Given the description of an element on the screen output the (x, y) to click on. 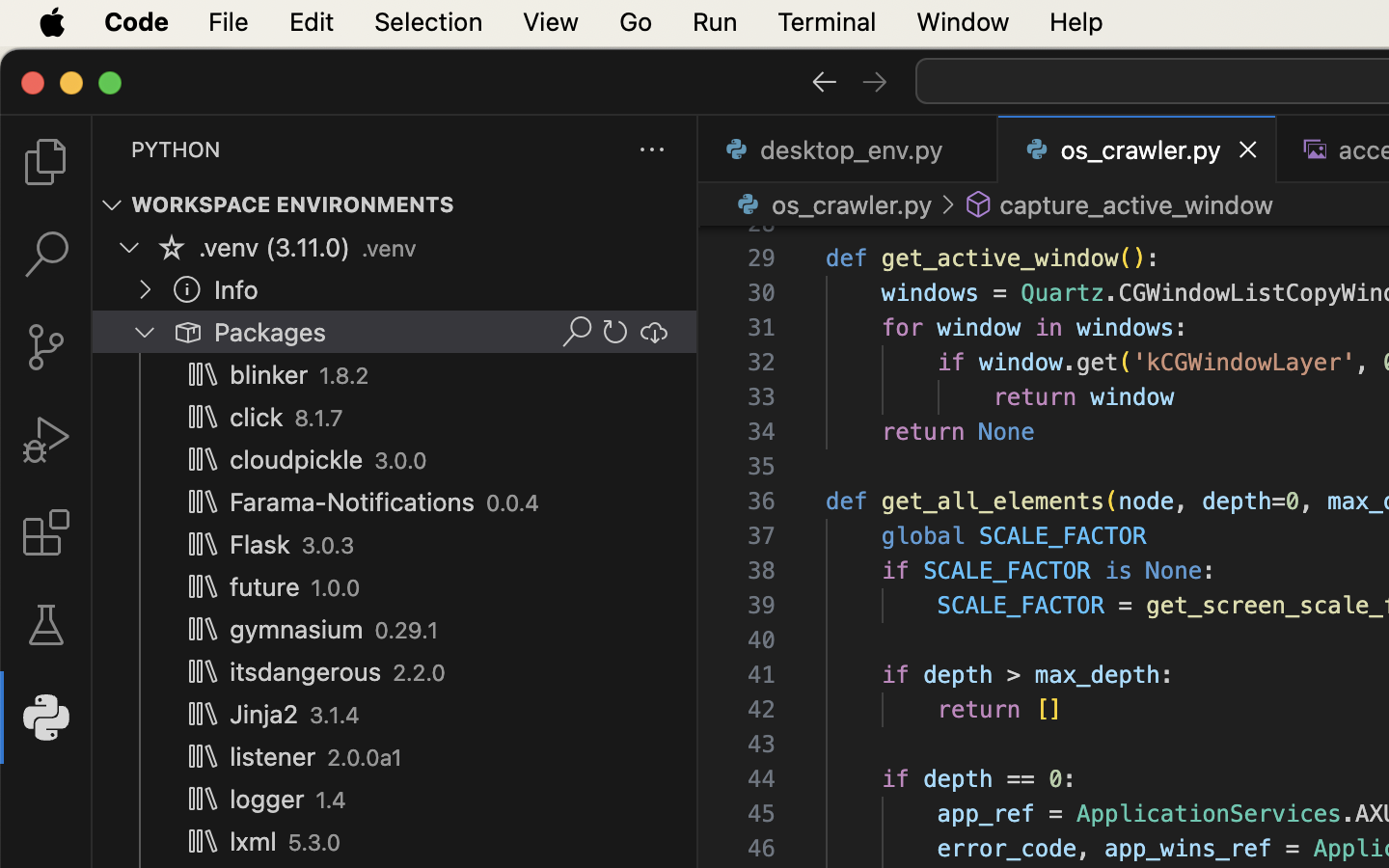
click Element type: AXStaticText (256, 417)
Packages Element type: AXStaticText (270, 332)
 Element type: AXStaticText (171, 246)
0  Element type: AXRadioButton (46, 254)
1.0.0 Element type: AXStaticText (335, 587)
